Given the description of an element on the screen output the (x, y) to click on. 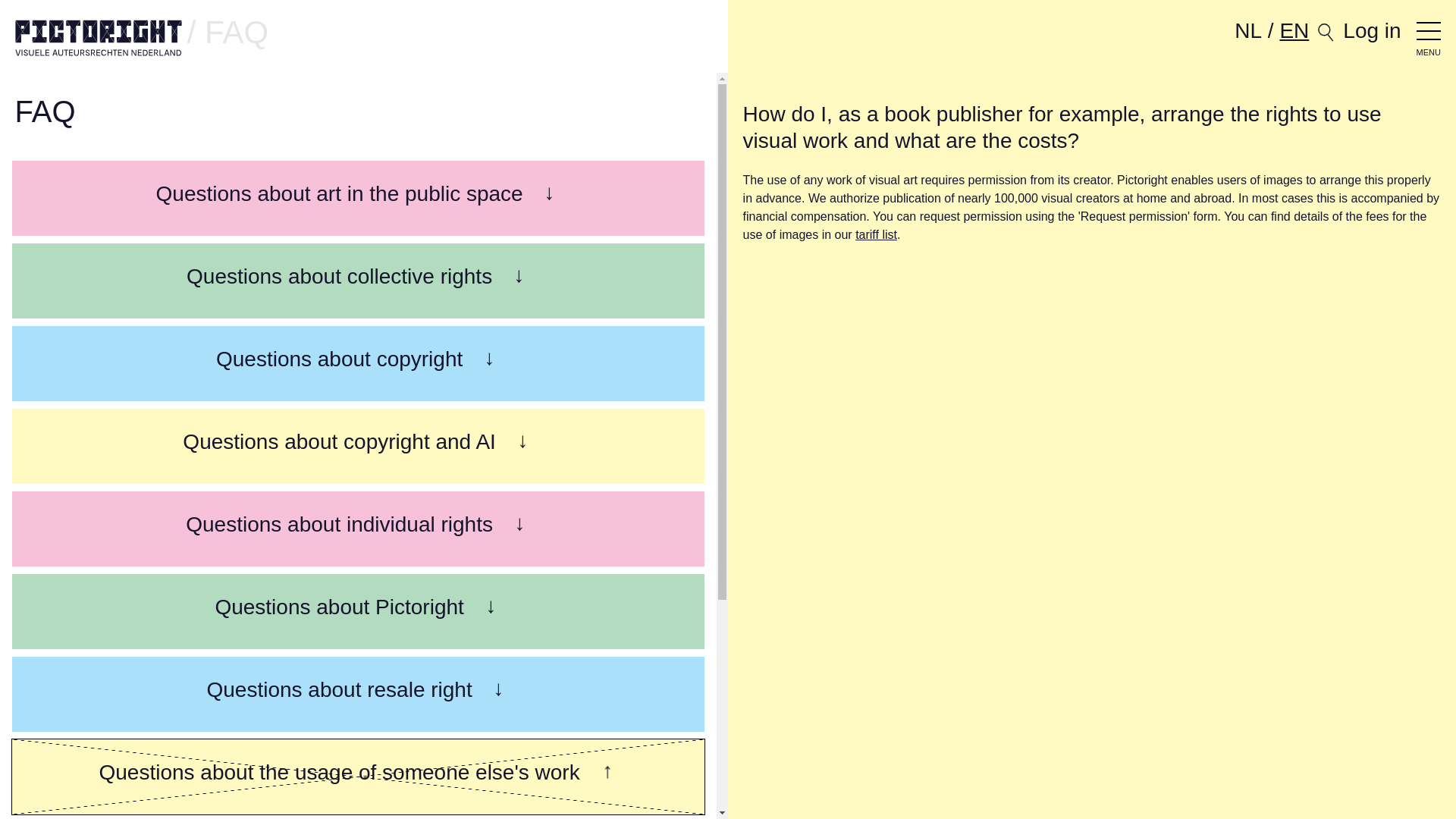
Log in (1371, 30)
EN (1293, 30)
logo (98, 39)
logo (98, 37)
search (1325, 39)
search (1325, 31)
